Given the description of an element on the screen output the (x, y) to click on. 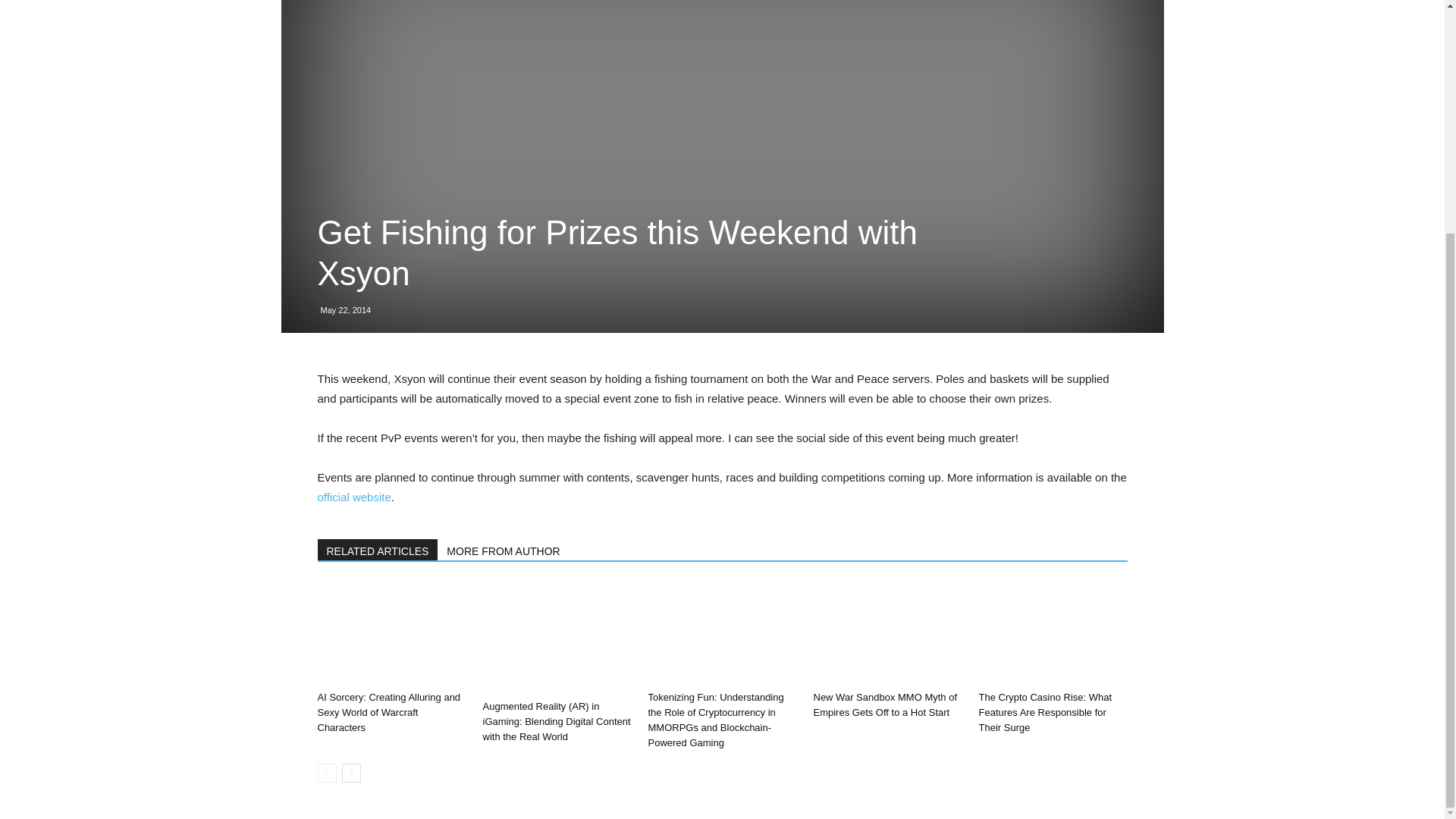
New War Sandbox MMO Myth of Empires Gets Off to a Hot Start (884, 704)
RELATED ARTICLES (377, 549)
Xsyon (353, 496)
MORE FROM AUTHOR (503, 549)
official website (353, 496)
